Given the description of an element on the screen output the (x, y) to click on. 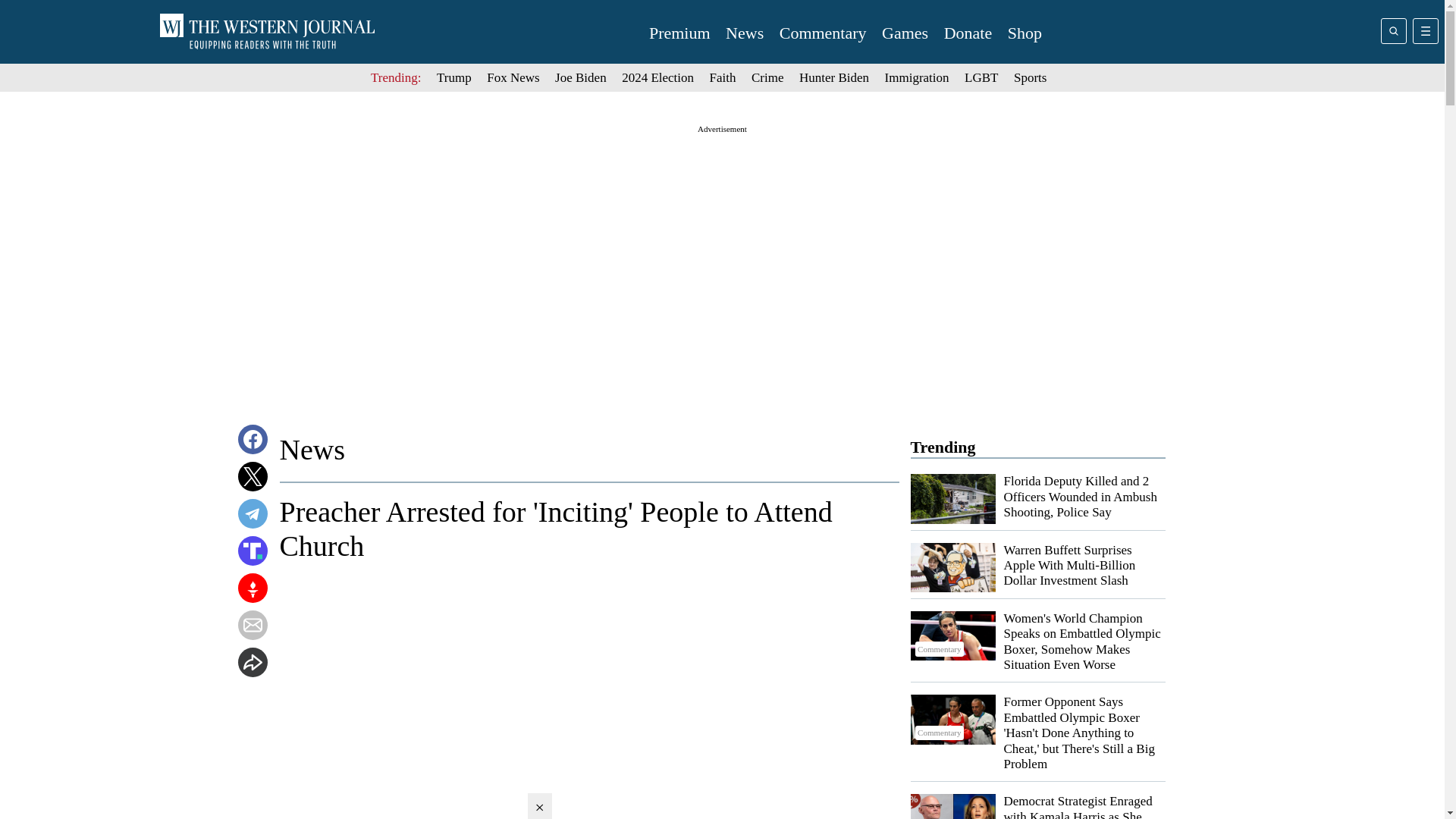
Sports (1029, 77)
Premium (679, 32)
Immigration (917, 77)
LGBT (980, 77)
Joe Biden (580, 77)
Commentary (952, 567)
Hunter Biden (834, 77)
Commentary (952, 772)
Games (905, 32)
Crime (767, 77)
Fox News (512, 77)
Commentary (952, 704)
